Given the description of an element on the screen output the (x, y) to click on. 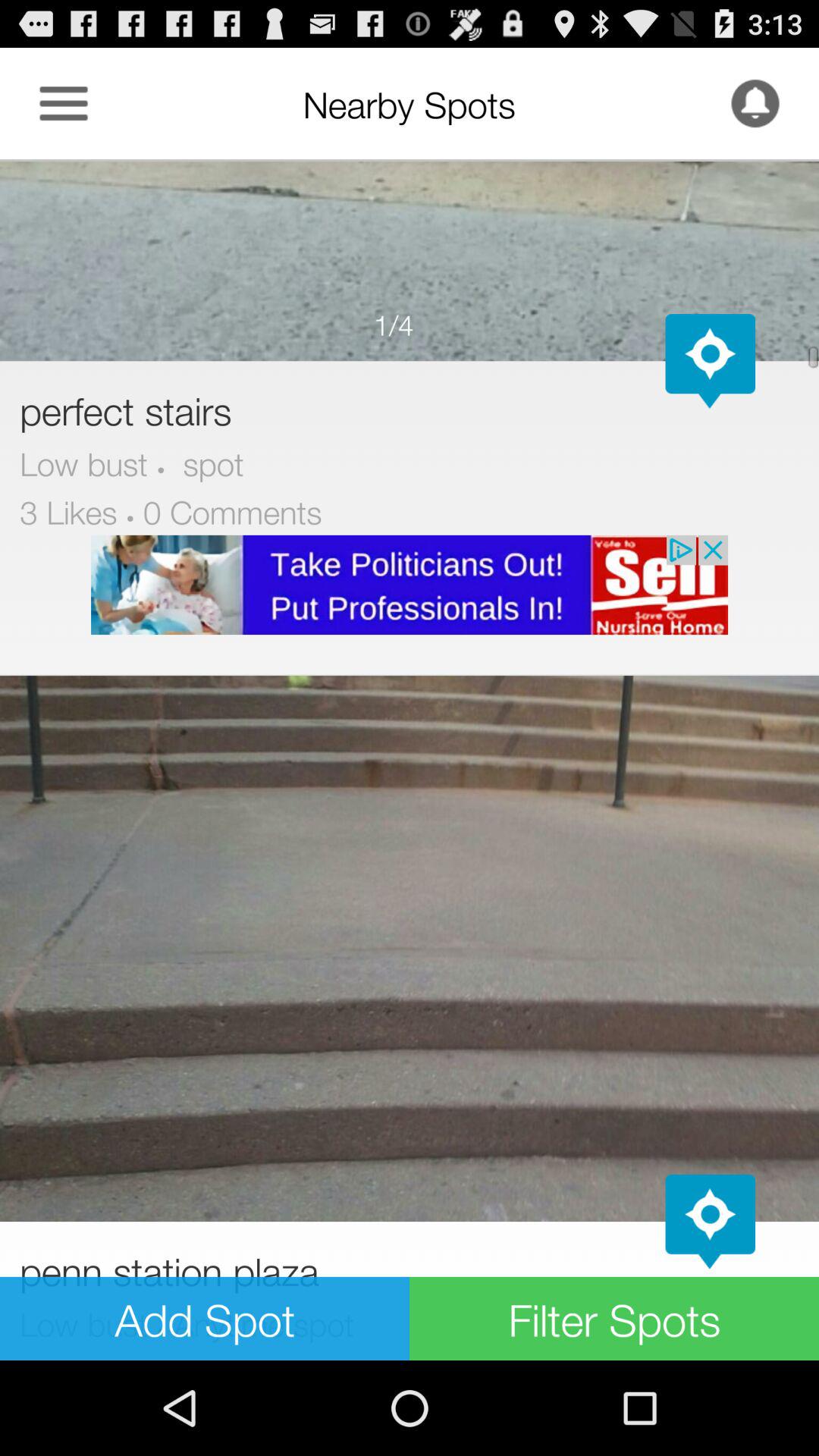
toggle to see location (710, 360)
